Given the description of an element on the screen output the (x, y) to click on. 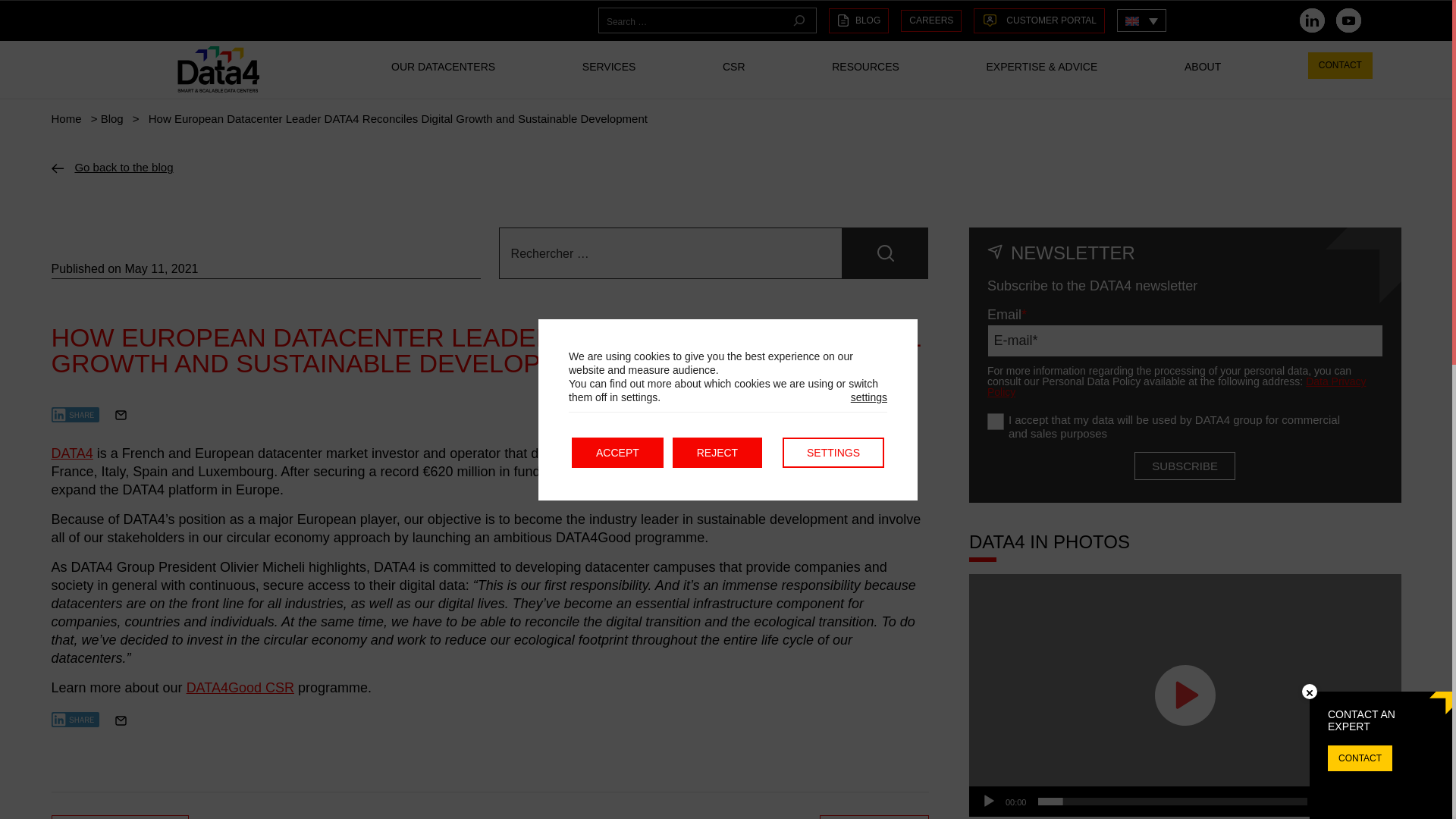
OUR DATACENTERS (442, 75)
on (995, 421)
Subscribe (1184, 465)
Go back to the blog (123, 166)
BLOG (858, 19)
RESOURCES (865, 75)
CAREERS (930, 20)
Mute (1357, 801)
SERVICES (609, 75)
CSR (734, 75)
Fullscreen (1381, 801)
CUSTOMER PORTAL (1039, 19)
Play (988, 801)
